Given the description of an element on the screen output the (x, y) to click on. 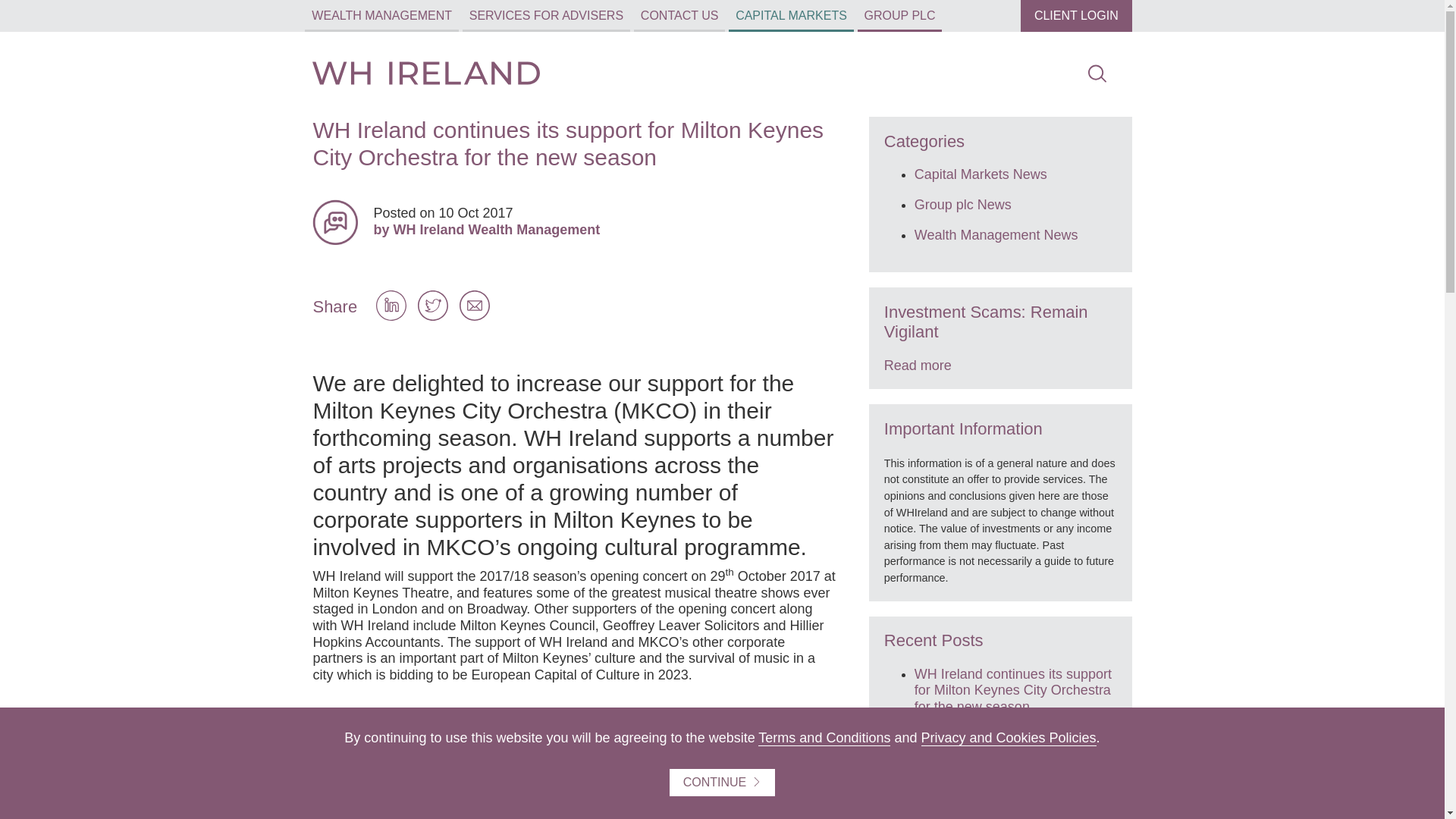
Share on Twitter (432, 315)
SERVICES FOR ADVISERS (546, 15)
View entries posted by WH Ireland Wealth Management (335, 221)
CAPITAL MARKETS (791, 15)
CLIENT LOGIN (1075, 15)
Share by email (474, 315)
View entries posted by WH Ireland Wealth Management (605, 230)
Share on LinkedIn (390, 315)
GROUP PLC (899, 15)
WEALTH MANAGEMENT (381, 15)
CONTACT US (679, 15)
by WH Ireland Wealth Management (605, 230)
